Given the description of an element on the screen output the (x, y) to click on. 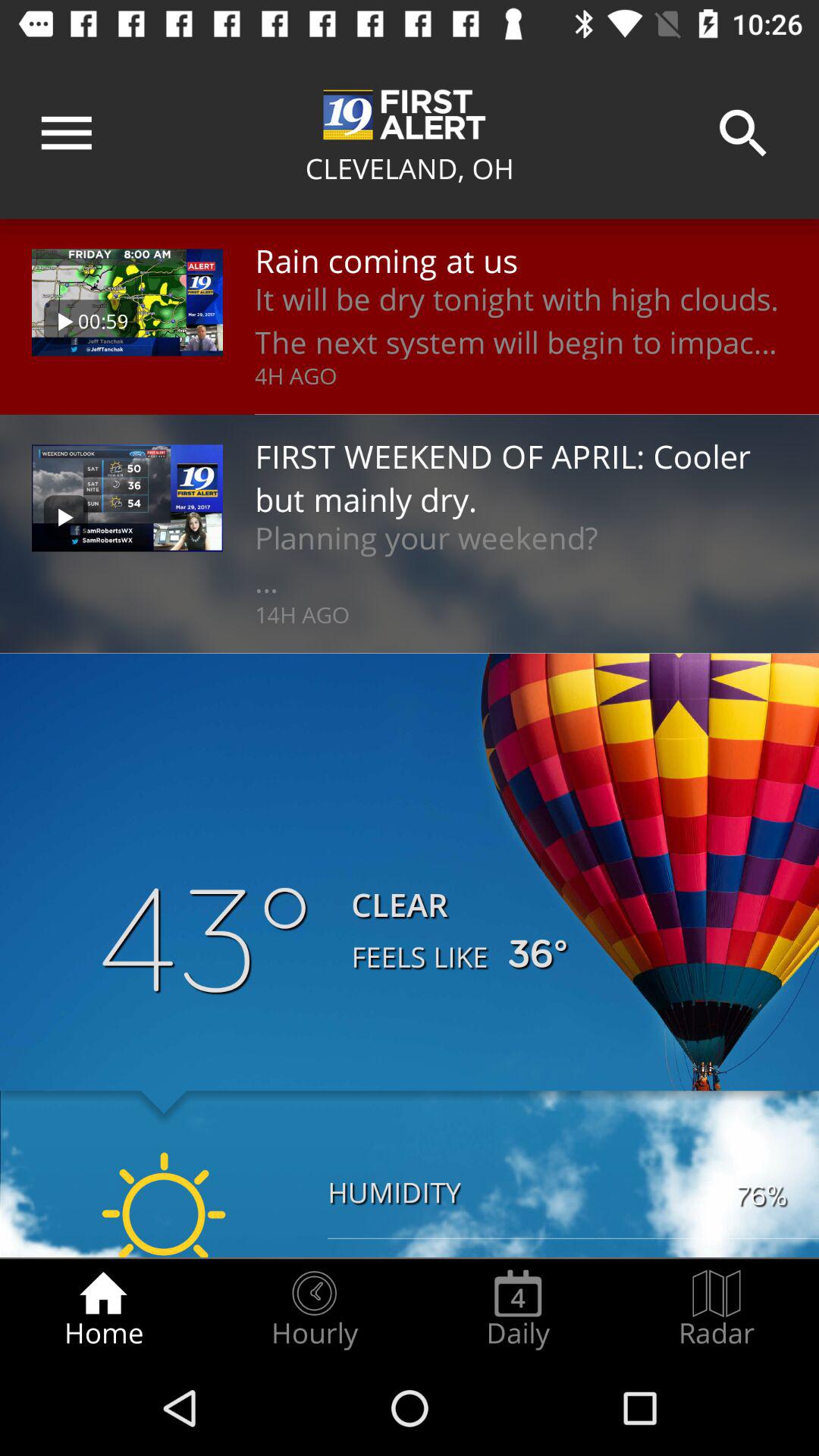
press item to the right of hourly (518, 1309)
